Given the description of an element on the screen output the (x, y) to click on. 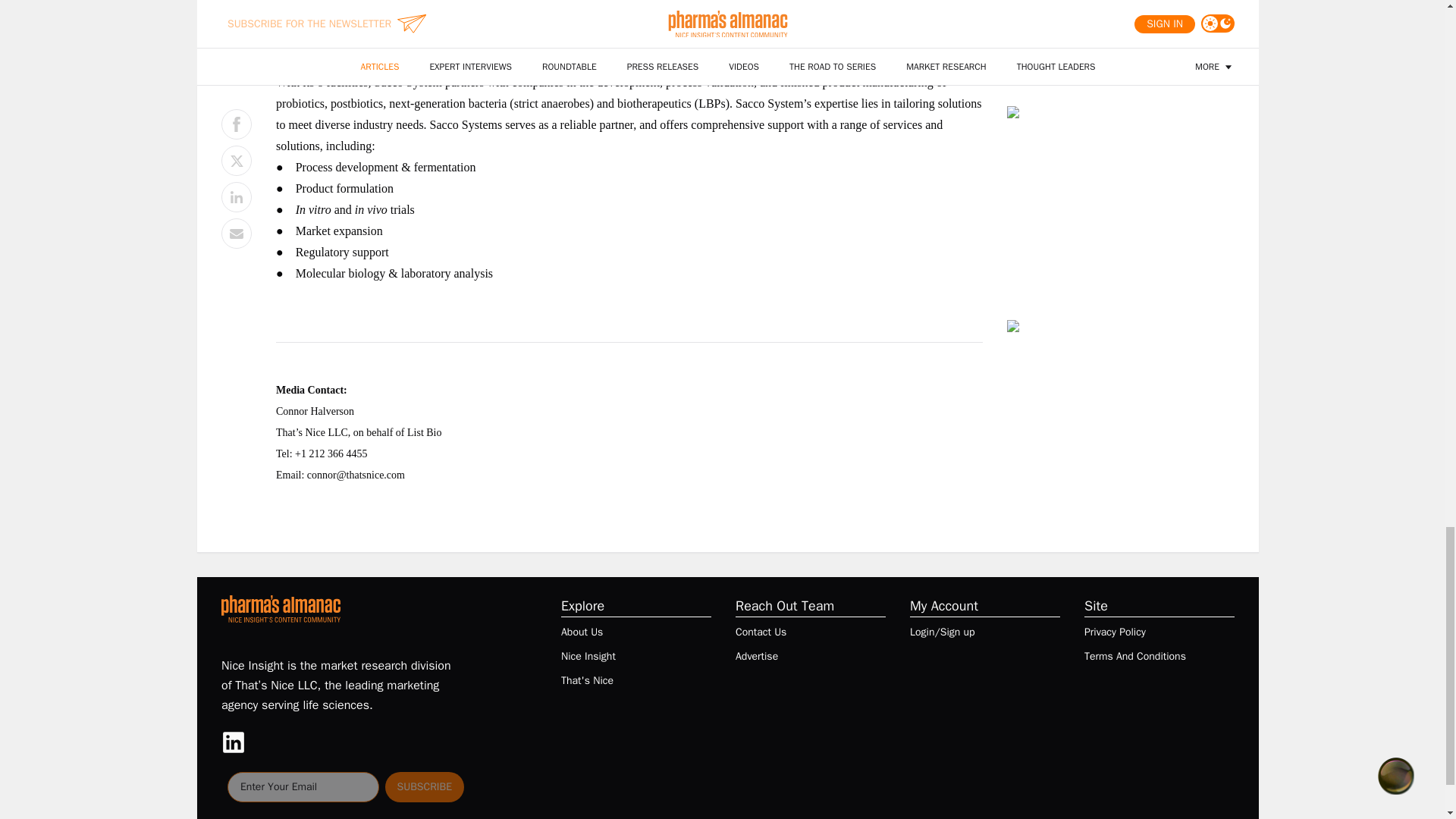
About Us (581, 631)
Nice Insight (587, 656)
SUBSCRIBE (424, 787)
